Given the description of an element on the screen output the (x, y) to click on. 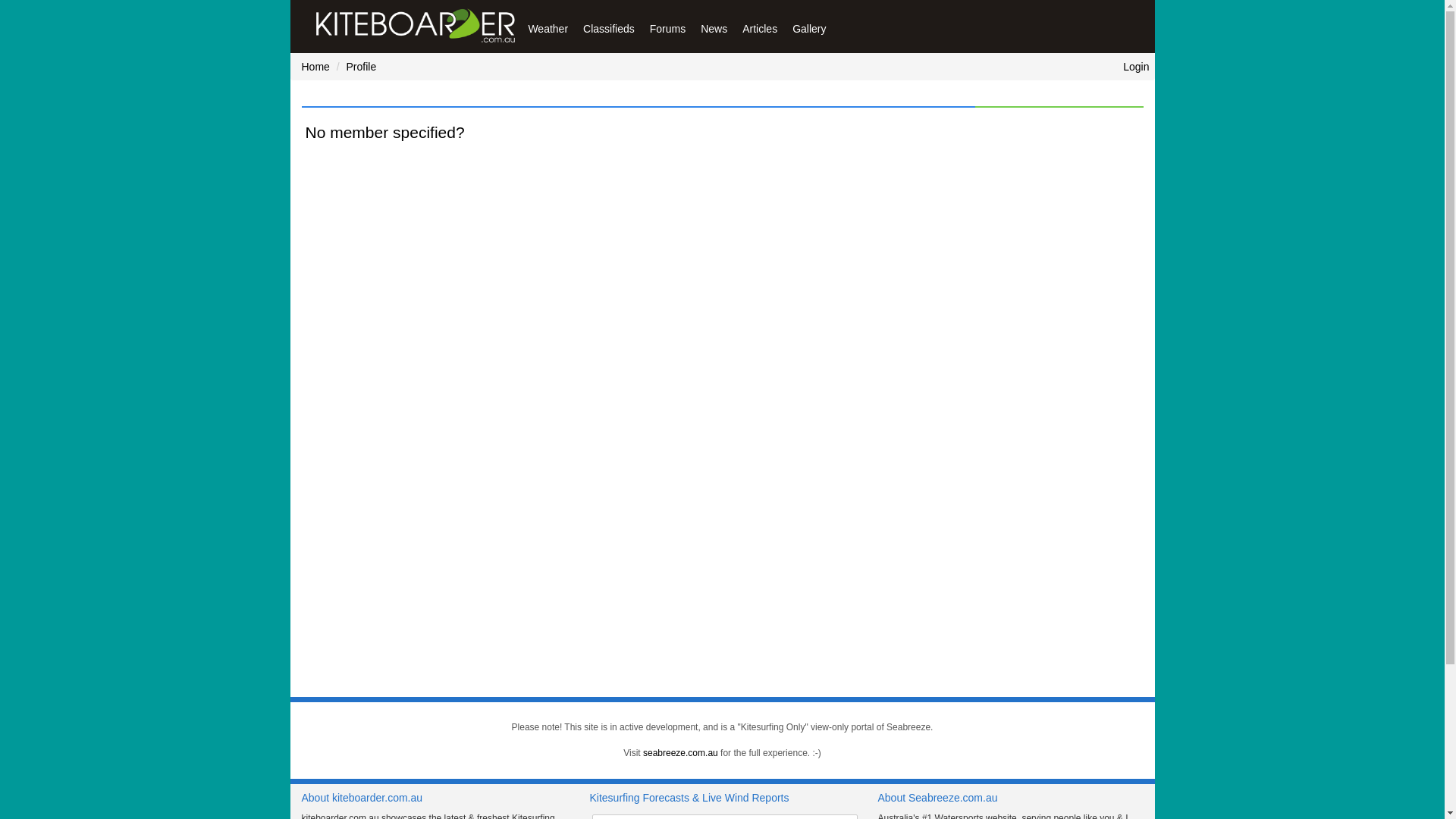
Home Element type: text (315, 66)
Profile Element type: text (361, 66)
Login Element type: text (1138, 66)
seabreeze.com.au Element type: text (680, 752)
